Given the description of an element on the screen output the (x, y) to click on. 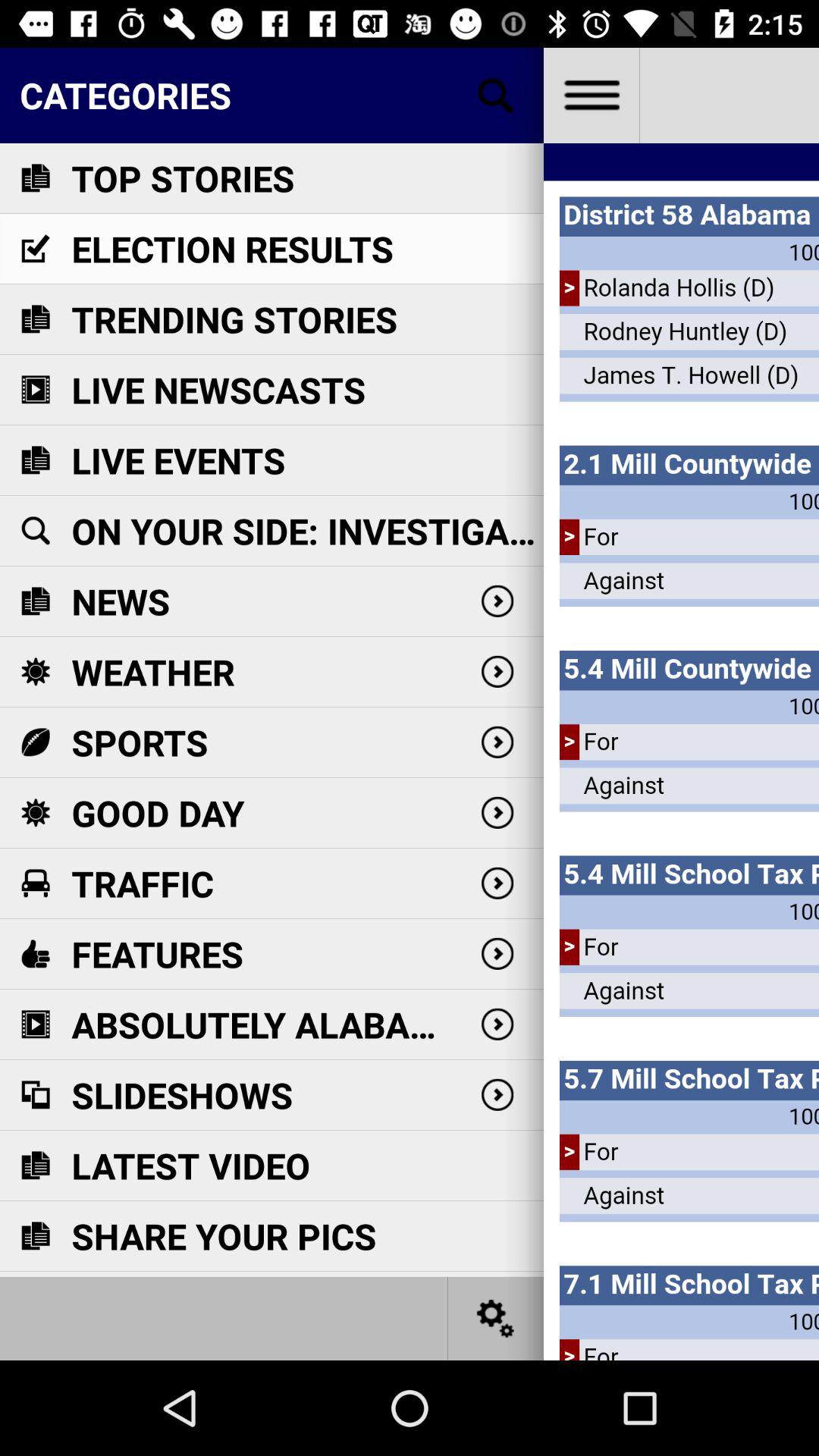
search (495, 95)
